Given the description of an element on the screen output the (x, y) to click on. 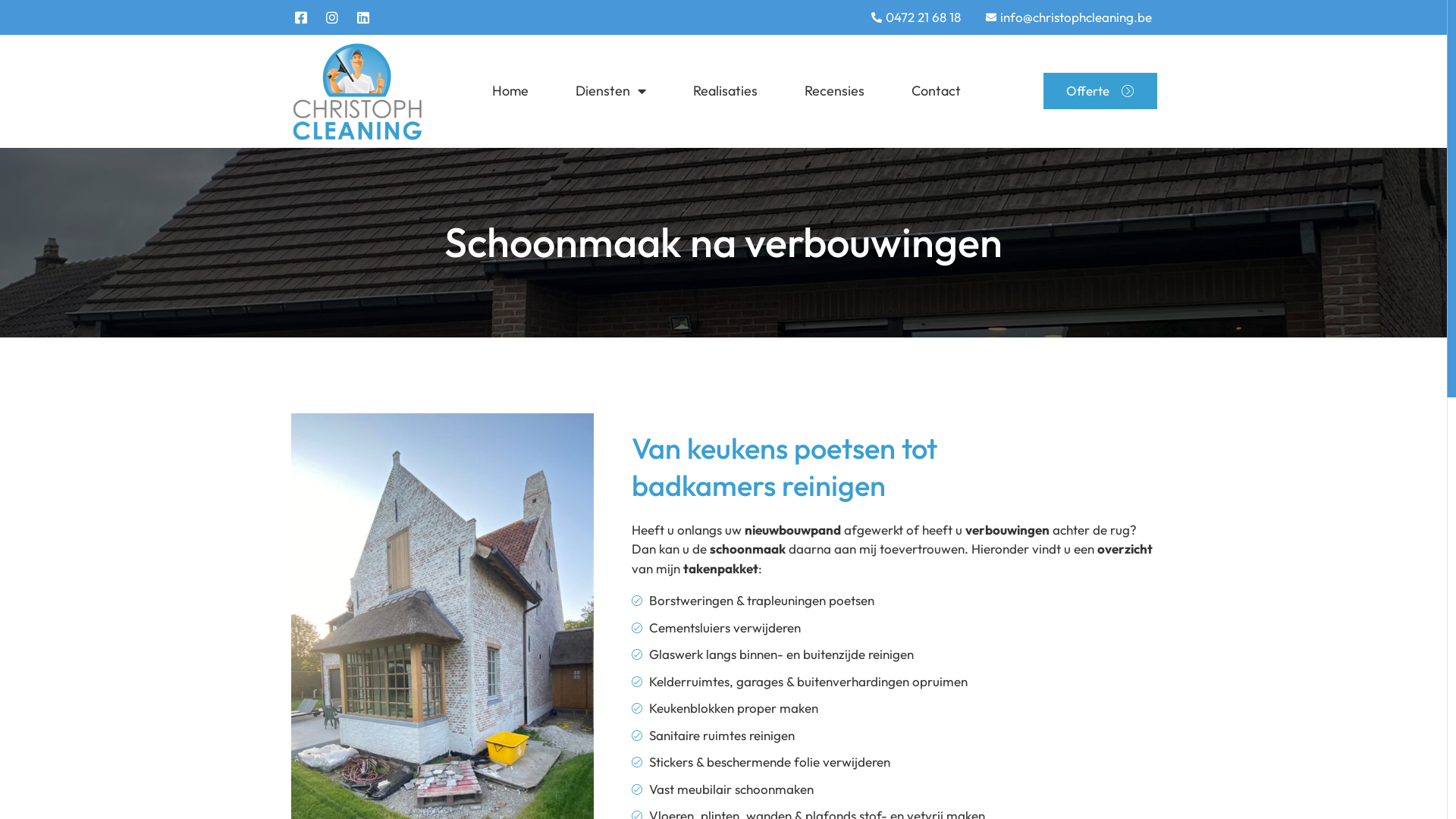
Home Element type: text (510, 90)
Recensies Element type: text (834, 90)
info@christophcleaning.be Element type: text (1066, 17)
Contact Element type: text (935, 90)
Diensten Element type: text (610, 90)
0472 21 68 18 Element type: text (914, 17)
Offerte Element type: text (1100, 90)
Realisaties Element type: text (725, 90)
